Given the description of an element on the screen output the (x, y) to click on. 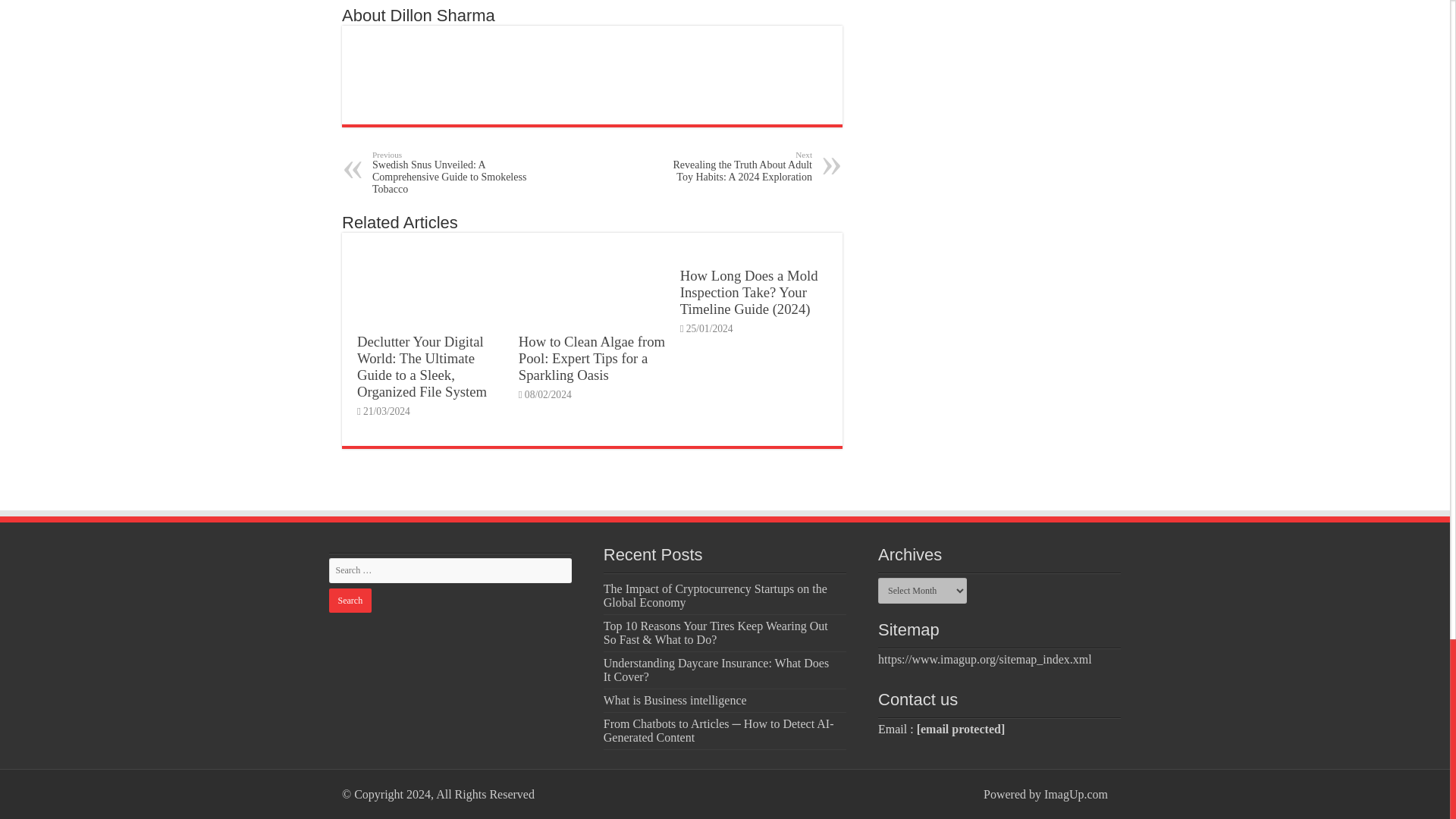
Search (350, 600)
Search (350, 600)
